Given the description of an element on the screen output the (x, y) to click on. 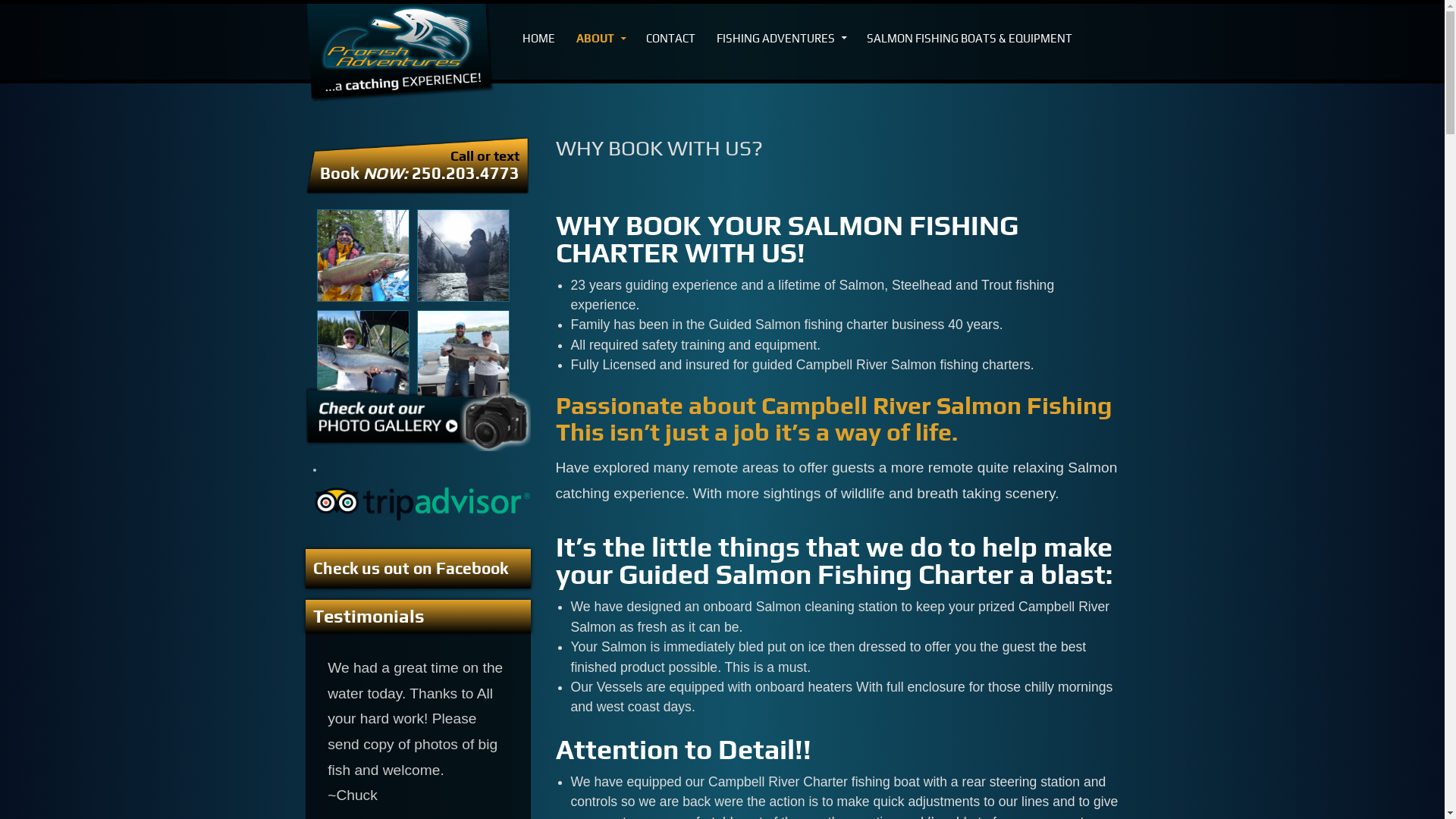
HOME Element type: text (537, 38)
Campbell River Fishing Element type: hover (463, 356)
CONTACT Element type: text (670, 38)
image001 (145).jpg Element type: hover (463, 255)
Guided Fishing Adventures Element type: hover (362, 356)
ABOUT Element type: text (600, 38)
FISHING ADVENTURES Element type: text (780, 38)
Check us out on Facebook Element type: text (409, 567)
SKIP TO CONTENT Element type: text (521, 29)
SALMON FISHING BOATS & EQUIPMENT Element type: text (969, 38)
Testimonials Element type: text (367, 615)
P1200072.JPG Element type: hover (362, 255)
